Given the description of an element on the screen output the (x, y) to click on. 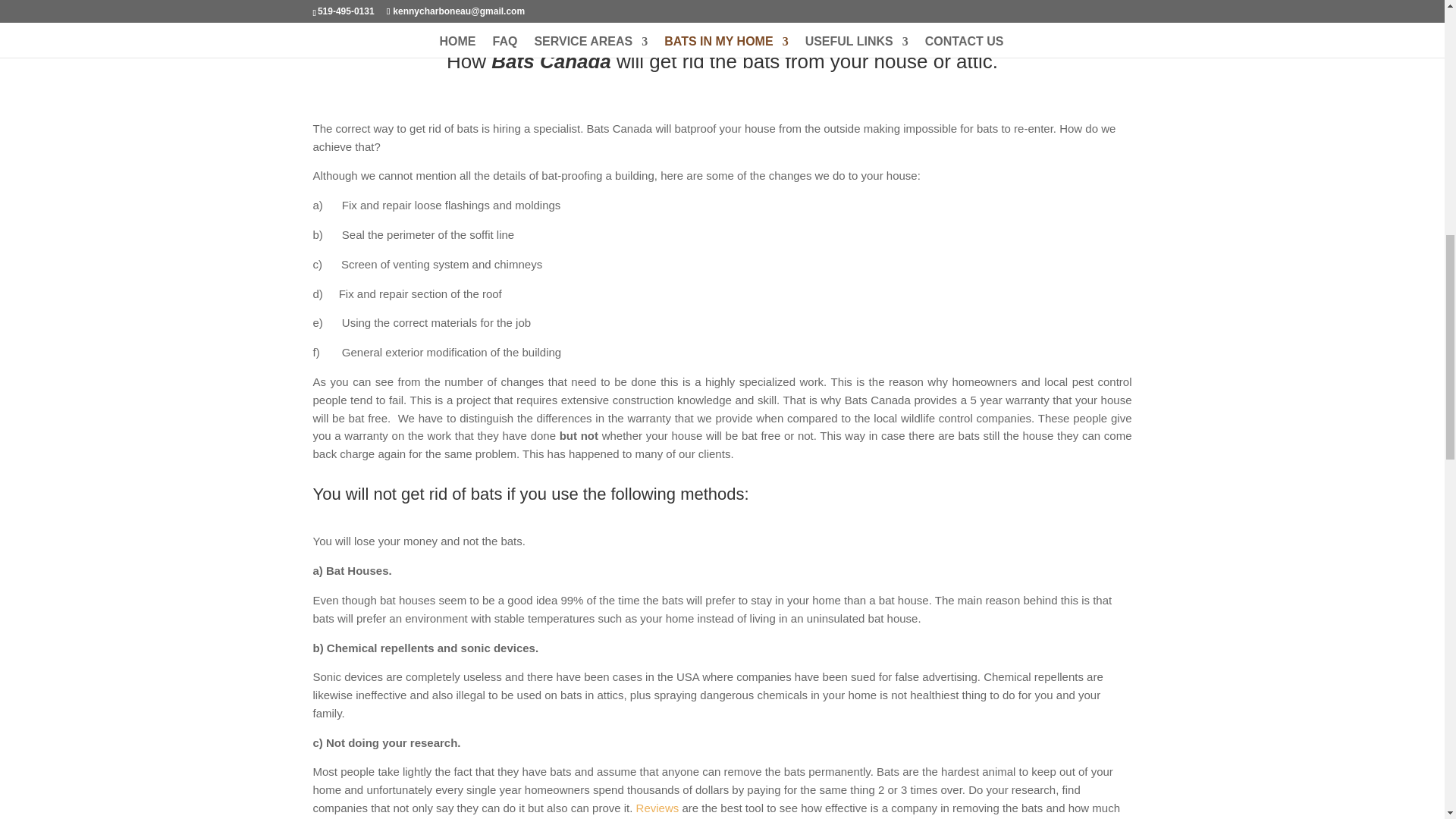
Reviews (657, 807)
